Given the description of an element on the screen output the (x, y) to click on. 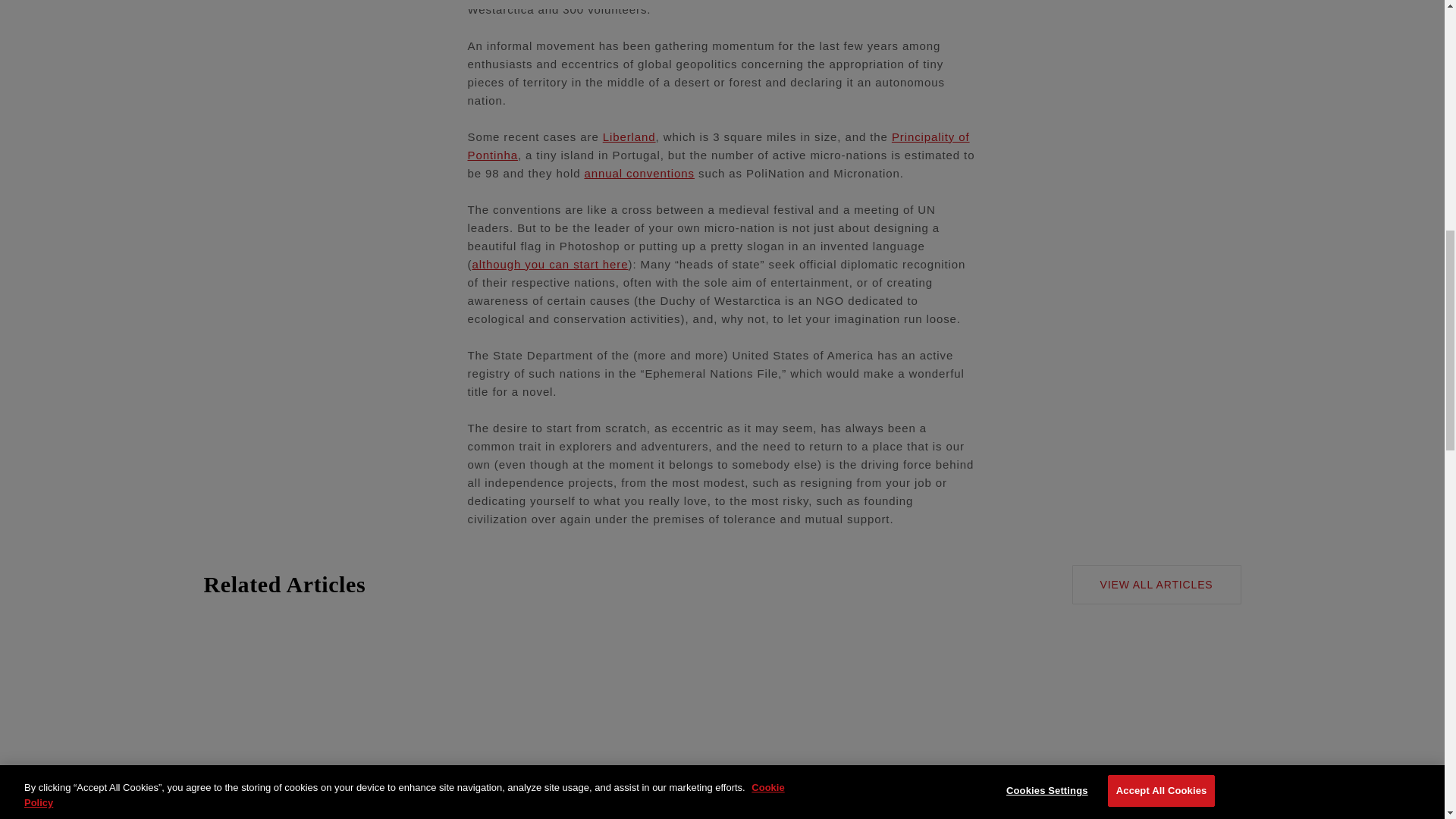
although you can start here (549, 264)
Liberland (629, 136)
annual conventions (638, 173)
Principality of Pontinha (718, 145)
next (1218, 797)
VIEW ALL ARTICLES (1156, 584)
